Given the description of an element on the screen output the (x, y) to click on. 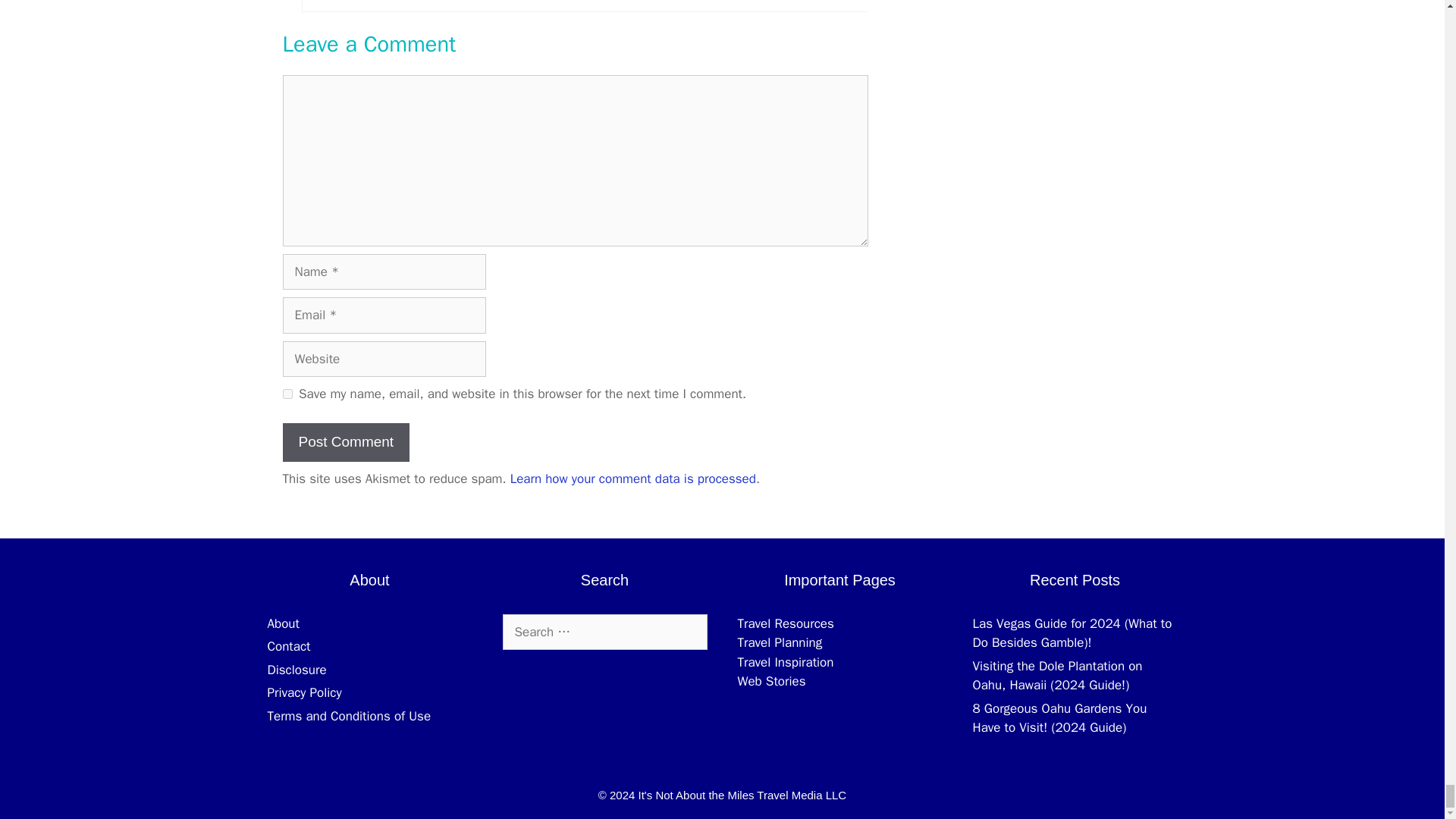
yes (287, 393)
Post Comment (345, 442)
